Given the description of an element on the screen output the (x, y) to click on. 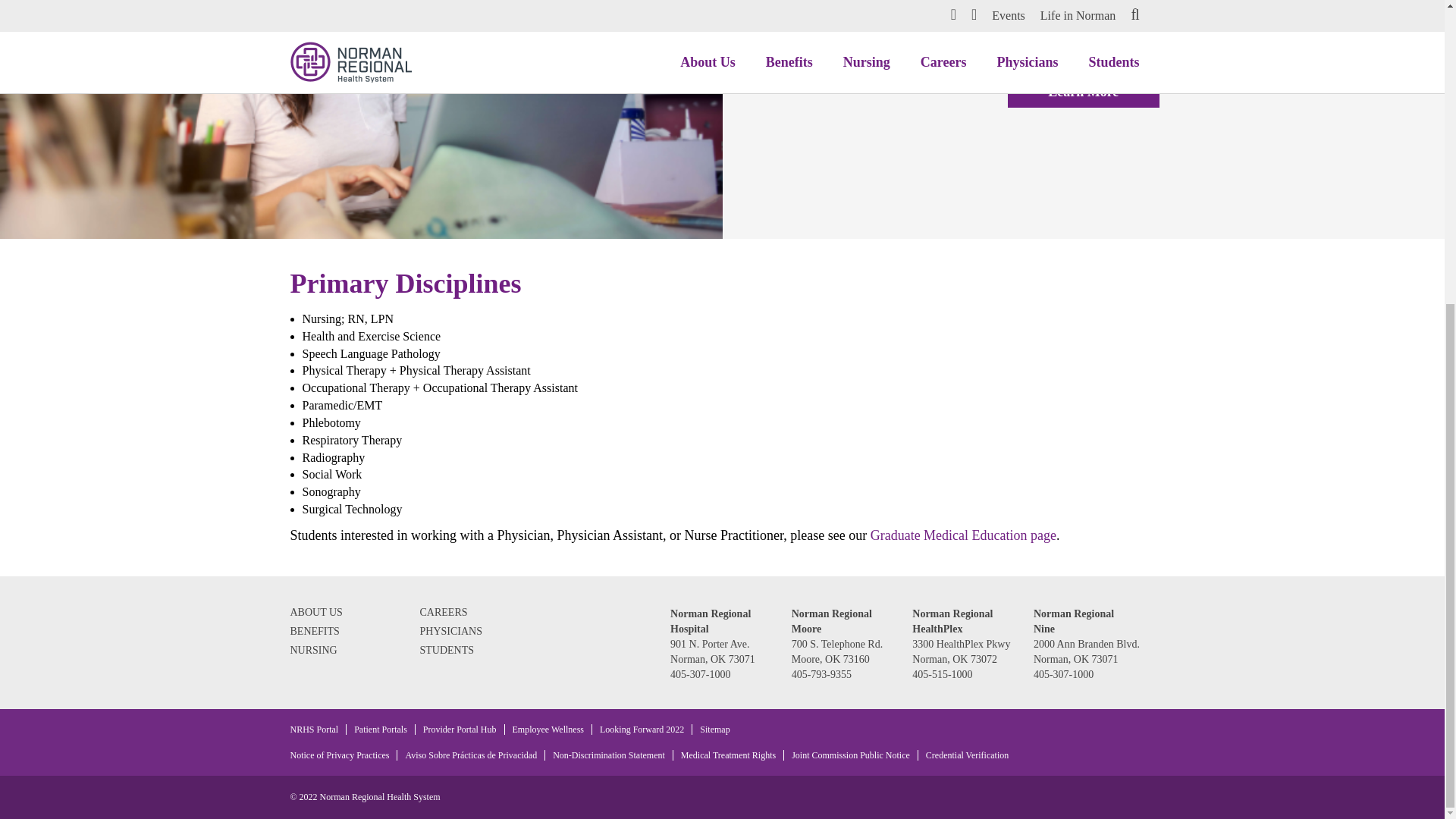
Learn More (1082, 92)
Medical Treatment Rights (728, 755)
Notice of Privacy Practices (338, 755)
Non-Discrimination Statement (609, 755)
CAREERS (443, 612)
405-307-1000 (699, 674)
STUDENTS (447, 650)
Employee Wellness (547, 728)
Graduate Medical Education page (963, 534)
ABOUT US (315, 612)
BENEFITS (314, 631)
PHYSICIANS (450, 631)
Joint Commission Public Notice (851, 755)
405-793-9355 (821, 674)
Sitemap (714, 728)
